Given the description of an element on the screen output the (x, y) to click on. 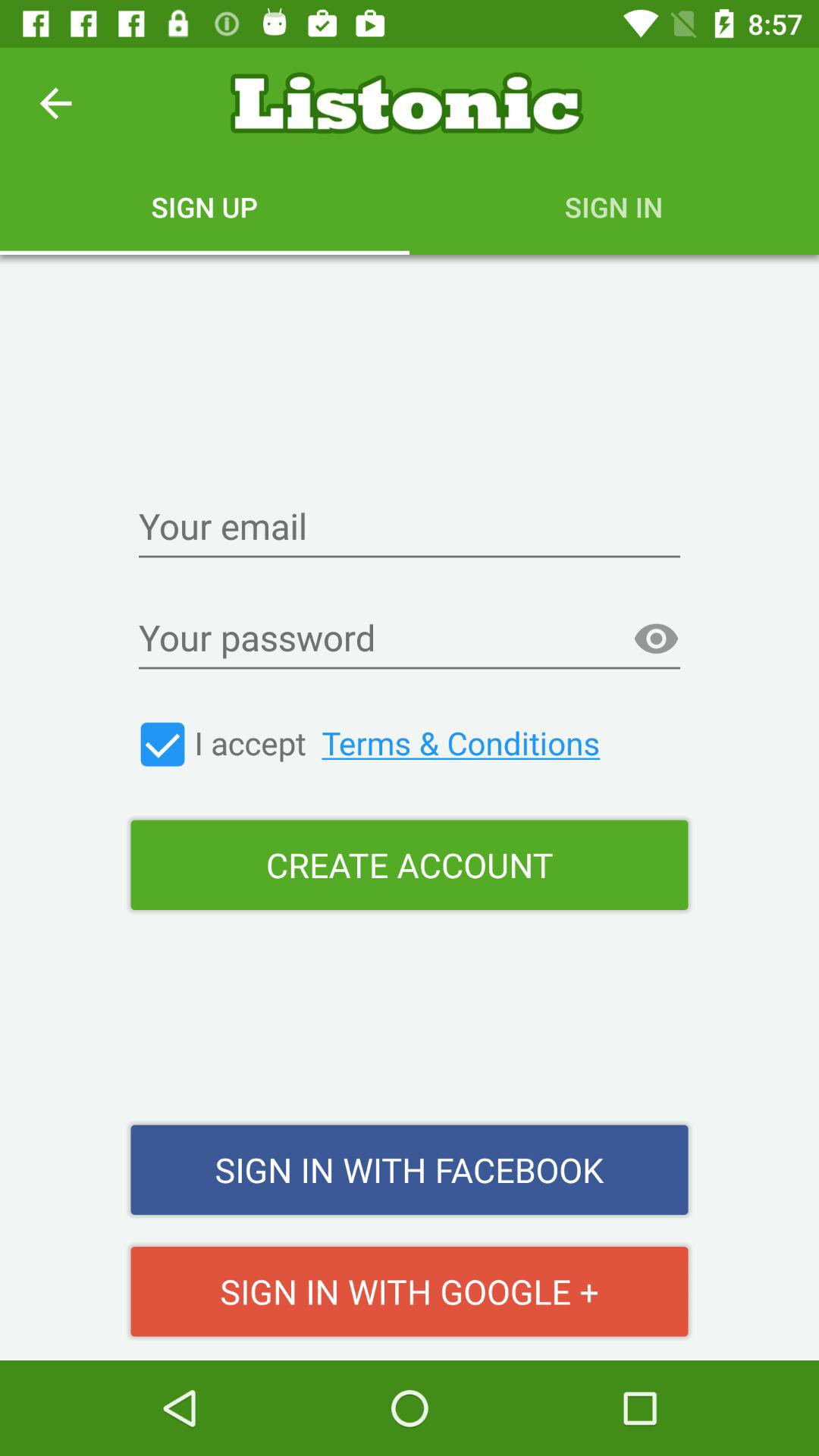
tap the item on the left (162, 744)
